Given the description of an element on the screen output the (x, y) to click on. 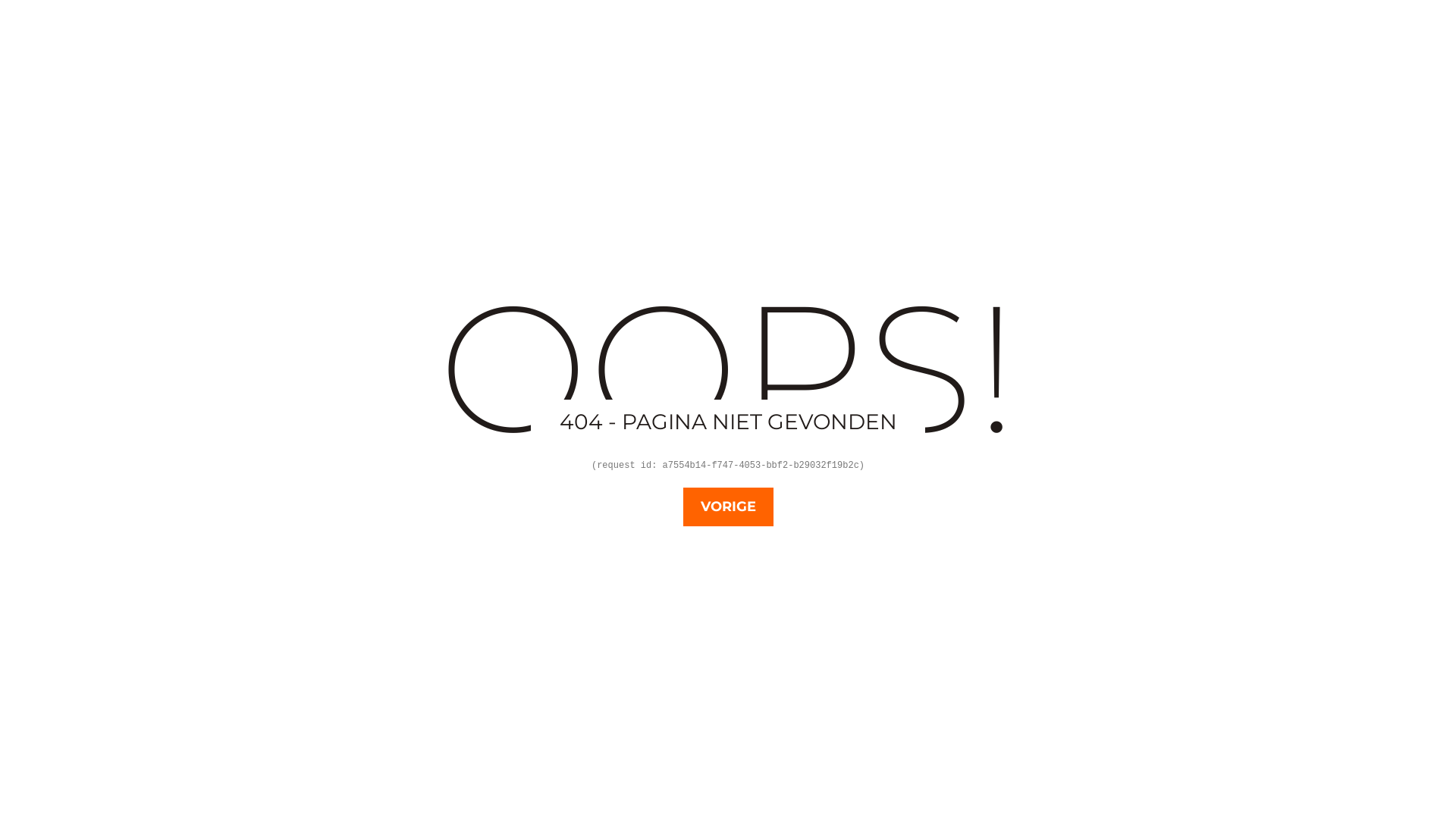
VORIGE Element type: text (727, 506)
